Given the description of an element on the screen output the (x, y) to click on. 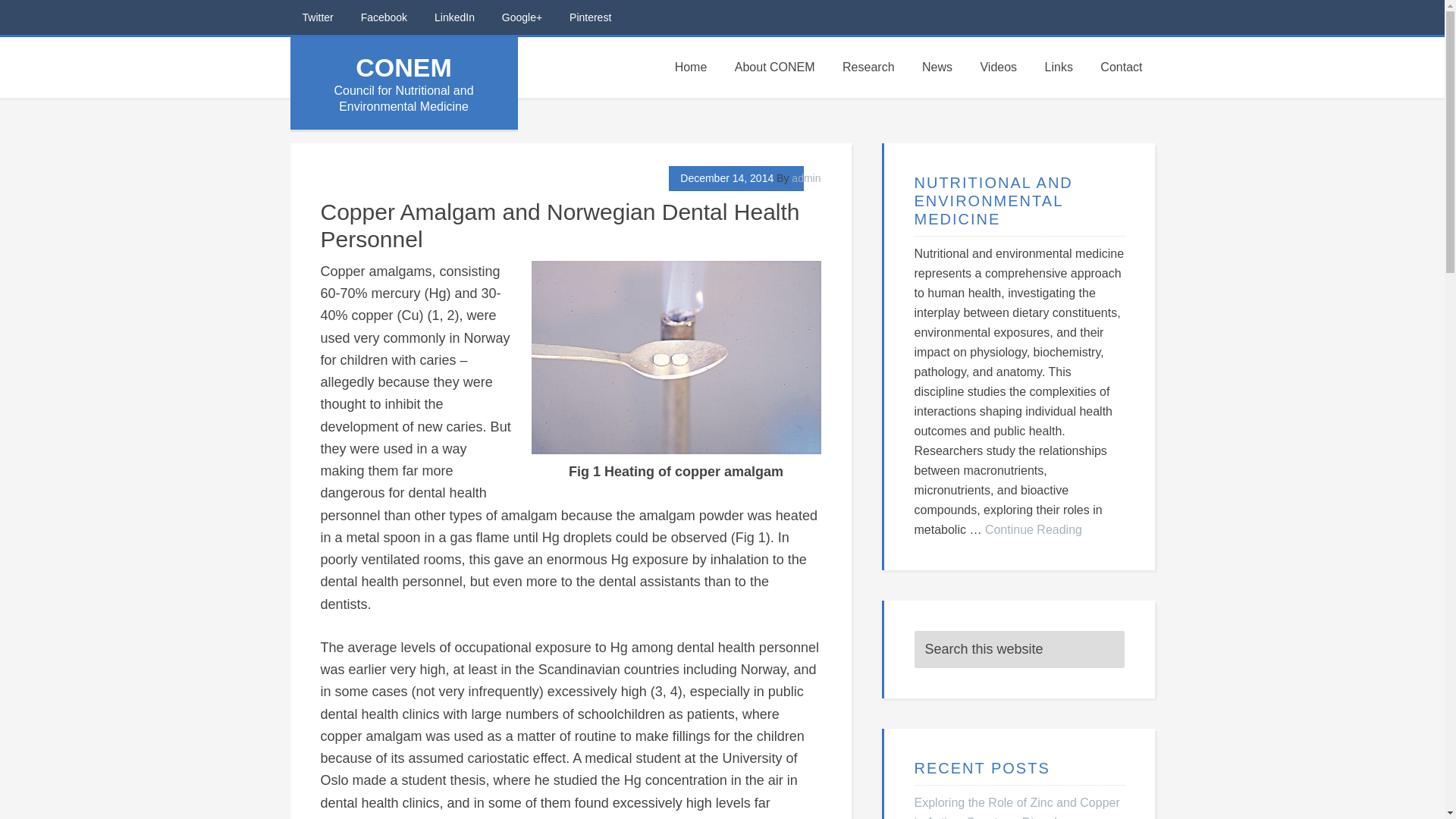
Videos (998, 66)
LinkedIn (454, 17)
Home (690, 66)
Twitter (317, 17)
Contact (1120, 66)
Facebook (384, 17)
About CONEM (774, 66)
Continue Reading (1033, 529)
CONEM (403, 67)
News (936, 66)
Links (1058, 66)
